Given the description of an element on the screen output the (x, y) to click on. 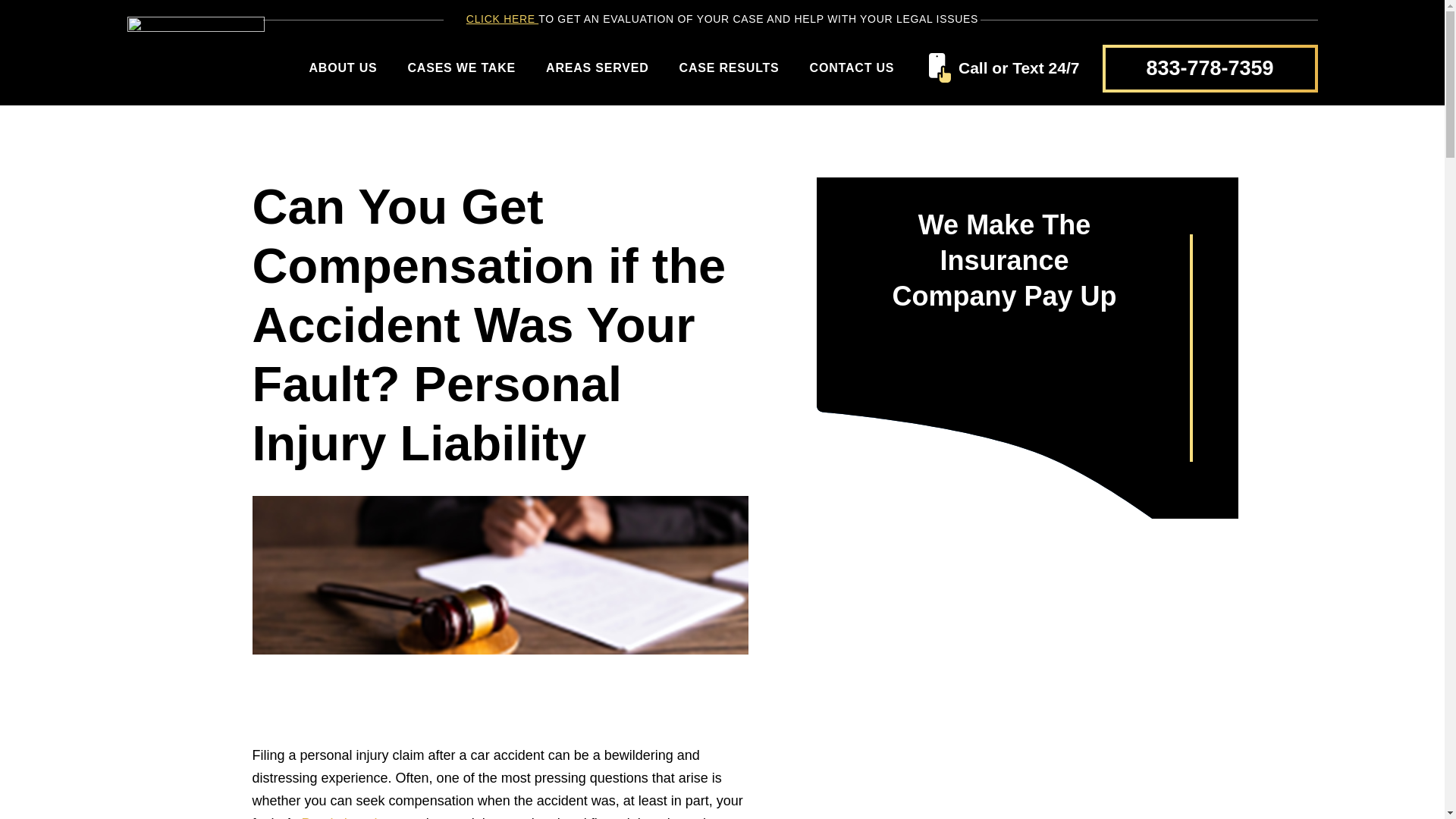
833-778-7359 (1209, 67)
AREAS SERVED (597, 67)
CASES WE TAKE (461, 67)
ABOUT US (343, 67)
Purely Legal (339, 817)
CASE RESULTS (728, 67)
CONTACT US (852, 67)
CLICK HERE (501, 19)
